Given the description of an element on the screen output the (x, y) to click on. 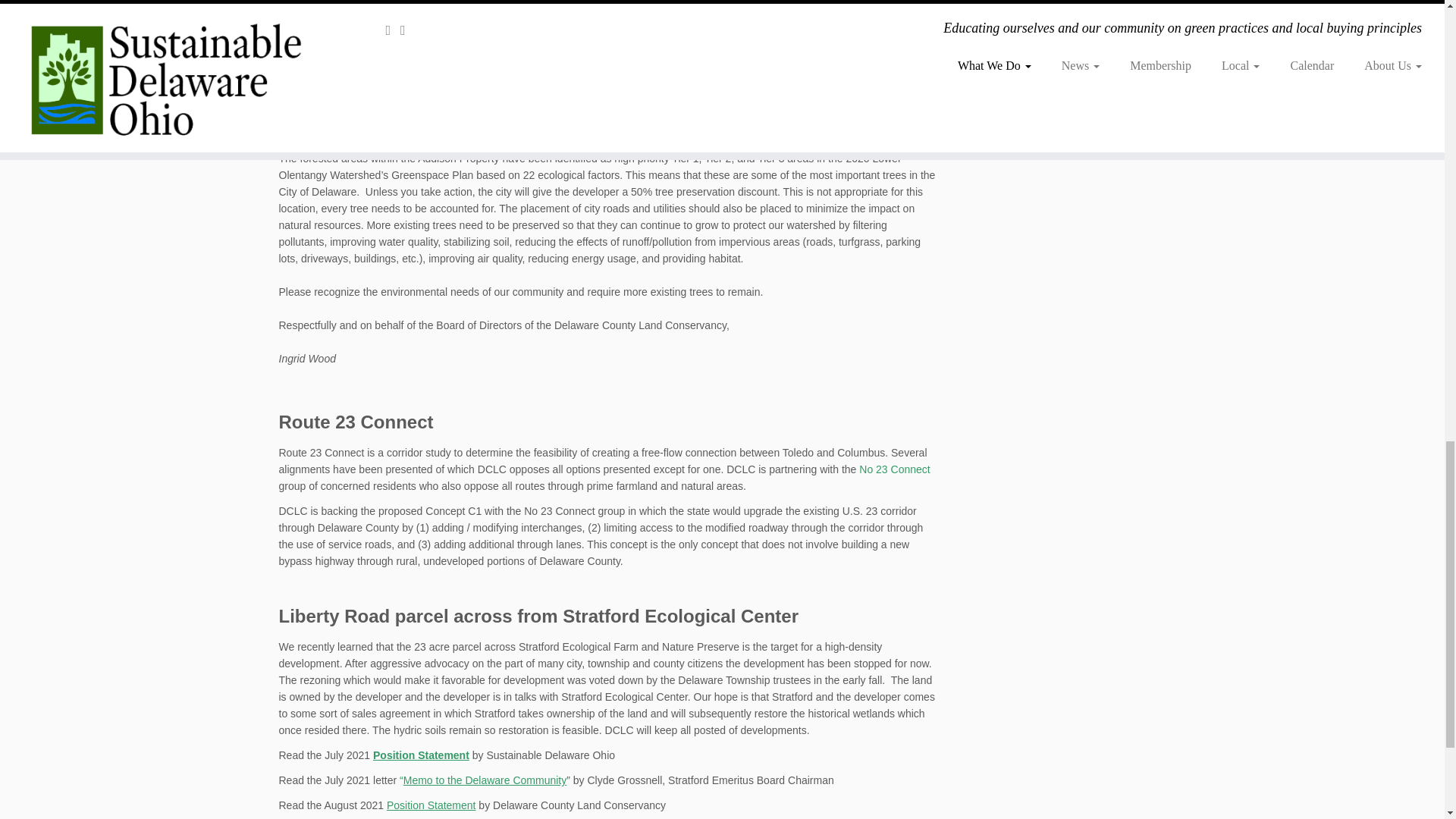
Position Statement (431, 805)
Position Statement (420, 755)
Memo to the Delaware Community (485, 779)
